Given the description of an element on the screen output the (x, y) to click on. 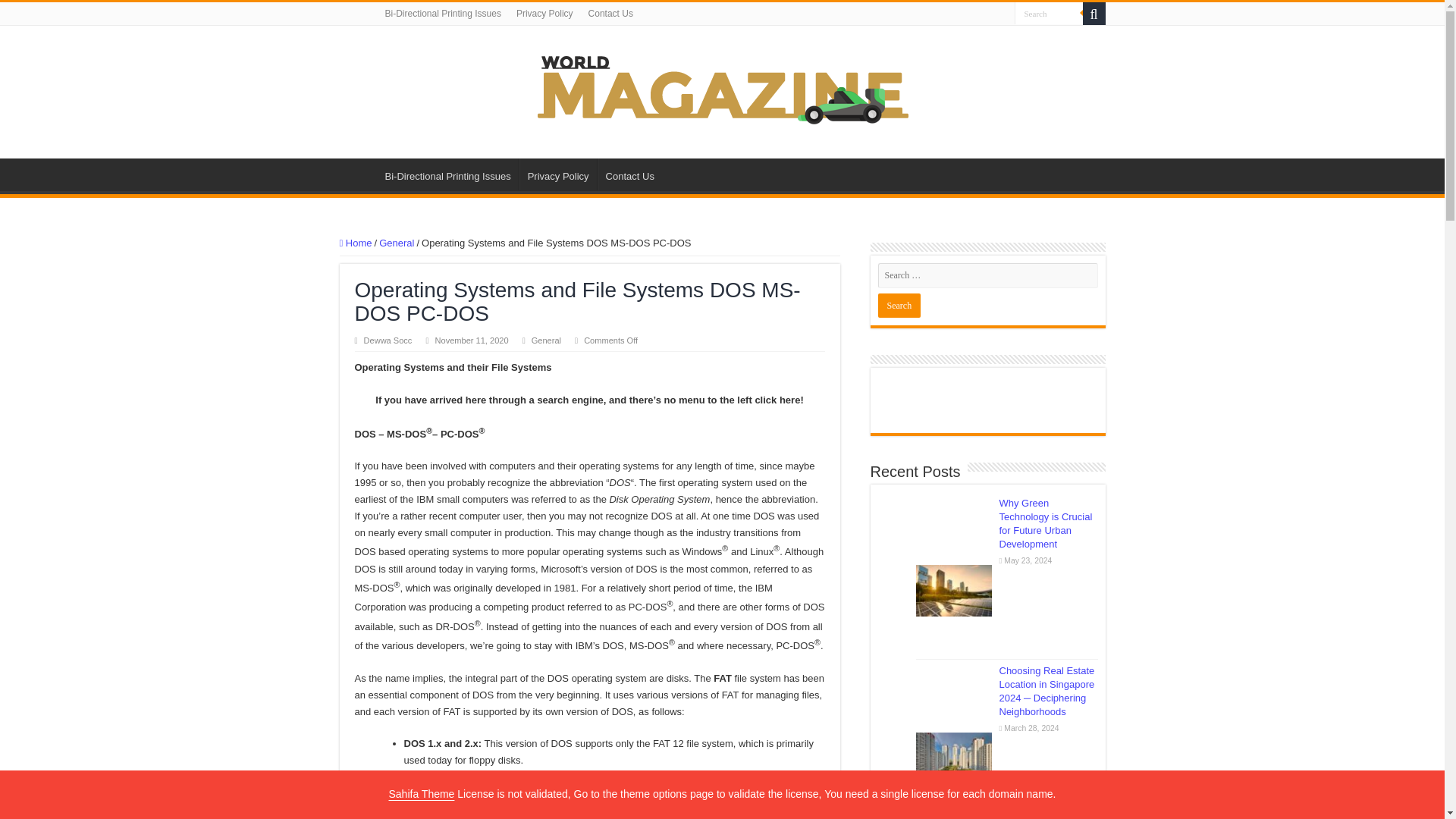
Contact Us (629, 174)
General (545, 339)
Bi-Directional Printing Issues (442, 13)
Search (899, 305)
World Magazine 2024 (721, 89)
Why Green Technology is Crucial for Future Urban Development (1045, 523)
Privacy Policy (557, 174)
Search (1048, 13)
Bi-Directional Printing Issues (447, 174)
General (395, 242)
